Given the description of an element on the screen output the (x, y) to click on. 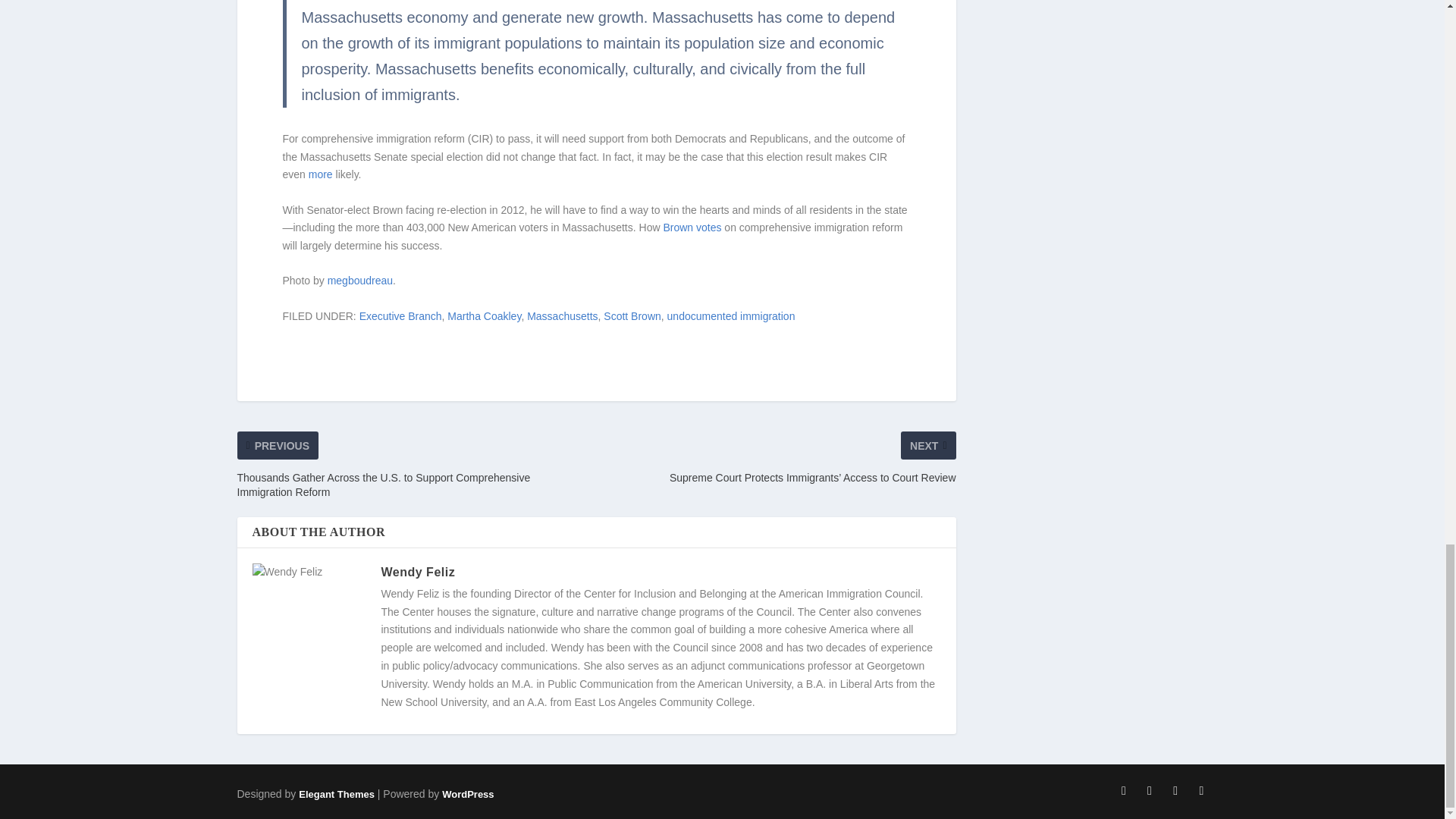
Martha Coakley (483, 316)
undocumented immigration (730, 316)
Massachusetts (561, 316)
Executive Branch (400, 316)
Scott Brown (632, 316)
megboudreau (360, 280)
more (320, 174)
Brown votes (691, 227)
